Given the description of an element on the screen output the (x, y) to click on. 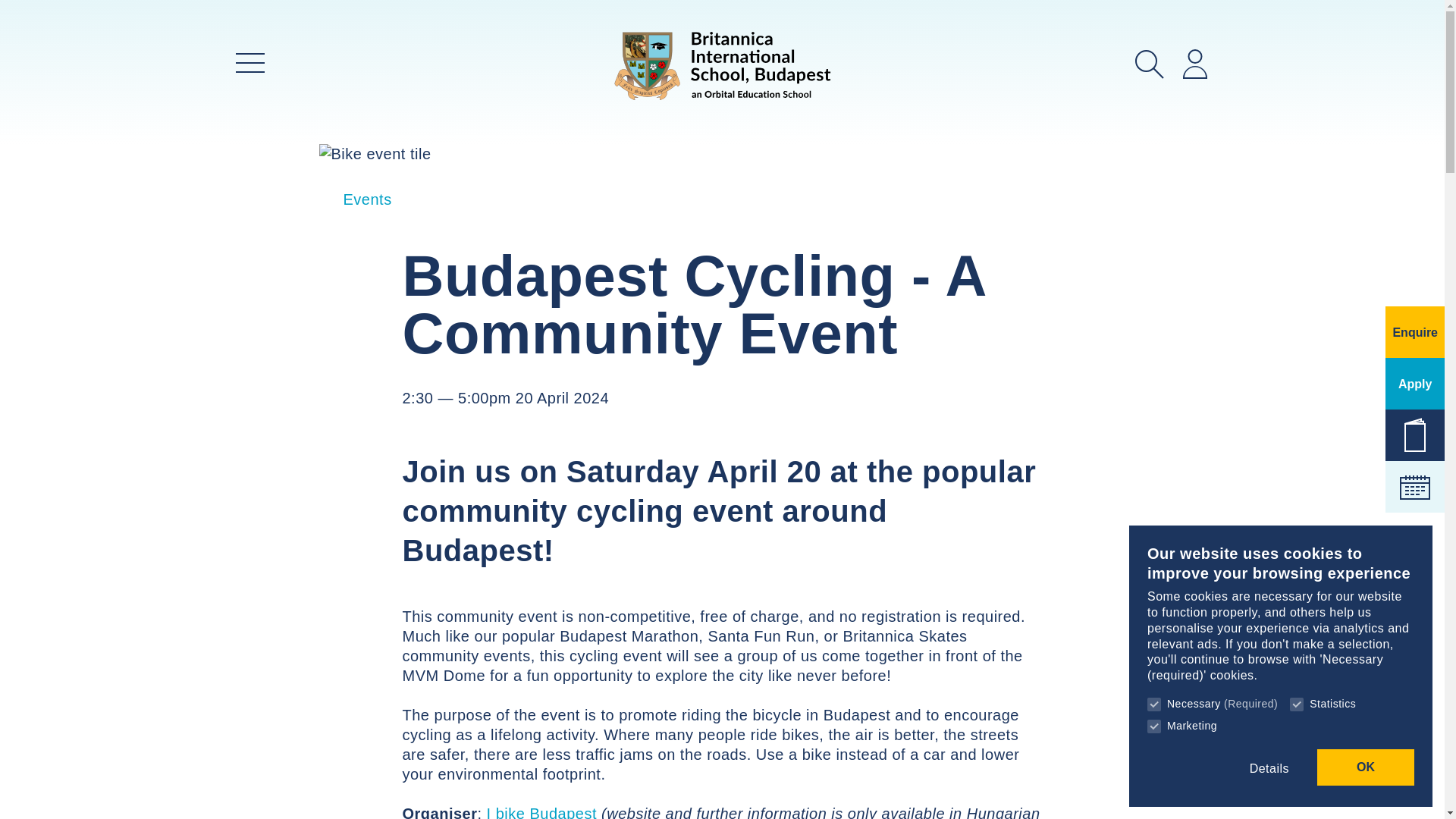
on (1153, 704)
on (1153, 726)
on (1296, 704)
OK (1365, 767)
Details (1269, 768)
